Given the description of an element on the screen output the (x, y) to click on. 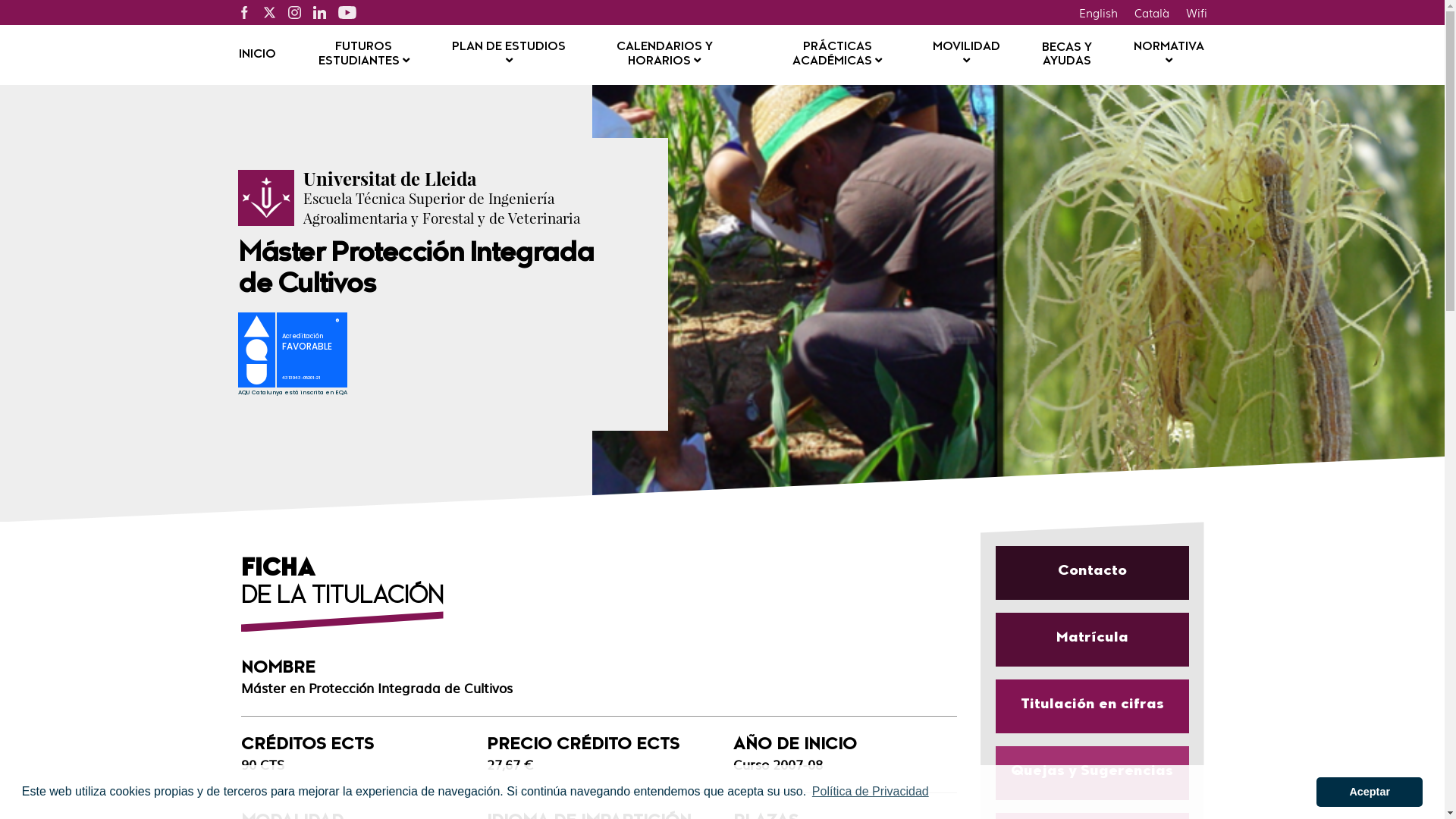
CALENDARIOS Y HORARIOS Element type: text (664, 54)
PLAN DE ESTUDIOS Element type: text (508, 54)
INICIO Element type: text (256, 54)
English Element type: text (1098, 12)
Aceptar Element type: text (1369, 791)
NORMATIVA Element type: text (1169, 54)
Wifi Element type: text (1195, 12)
MOVILIDAD Element type: text (965, 54)
BECAS Y AYUDAS Element type: text (1066, 54)
SegellAcreditacio_MPICultius_es Element type: hover (300, 356)
FUTUROS ESTUDIANTES Element type: text (364, 54)
